Given the description of an element on the screen output the (x, y) to click on. 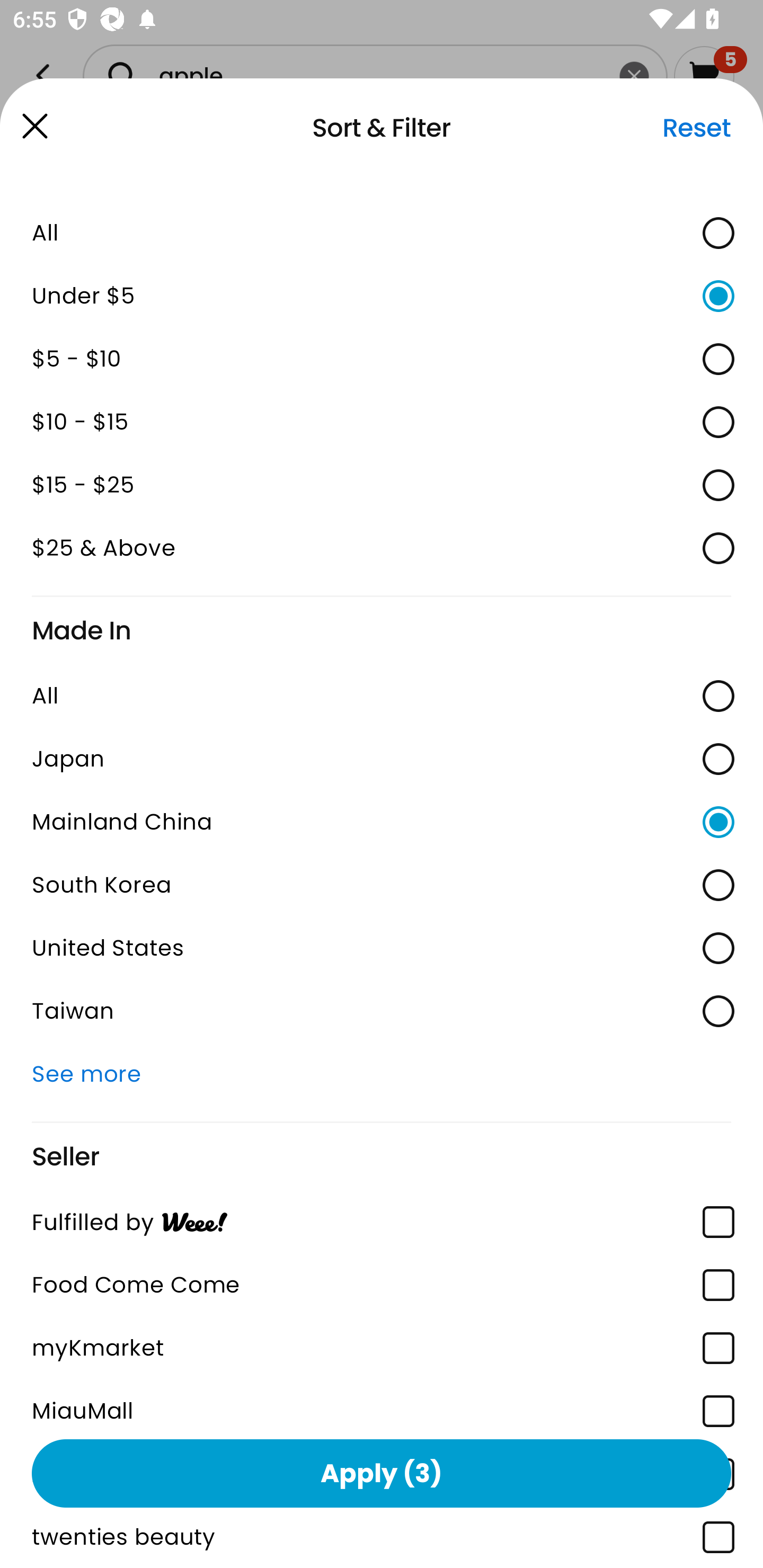
Reset (696, 127)
See more (381, 1073)
Apply (3) (381, 1472)
